Given the description of an element on the screen output the (x, y) to click on. 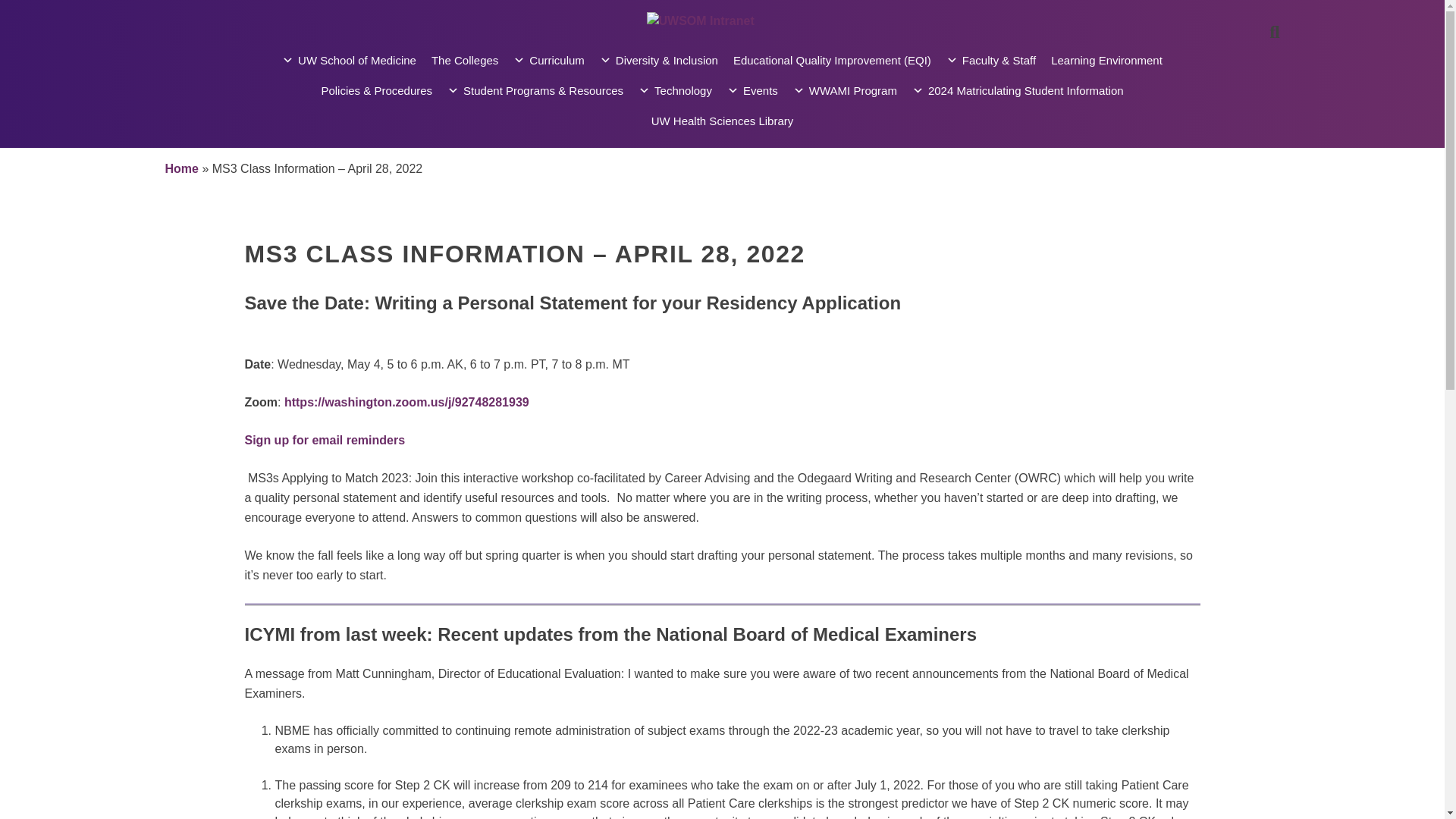
UW School of Medicine (349, 60)
Curriculum (548, 60)
The Colleges (464, 60)
